Given the description of an element on the screen output the (x, y) to click on. 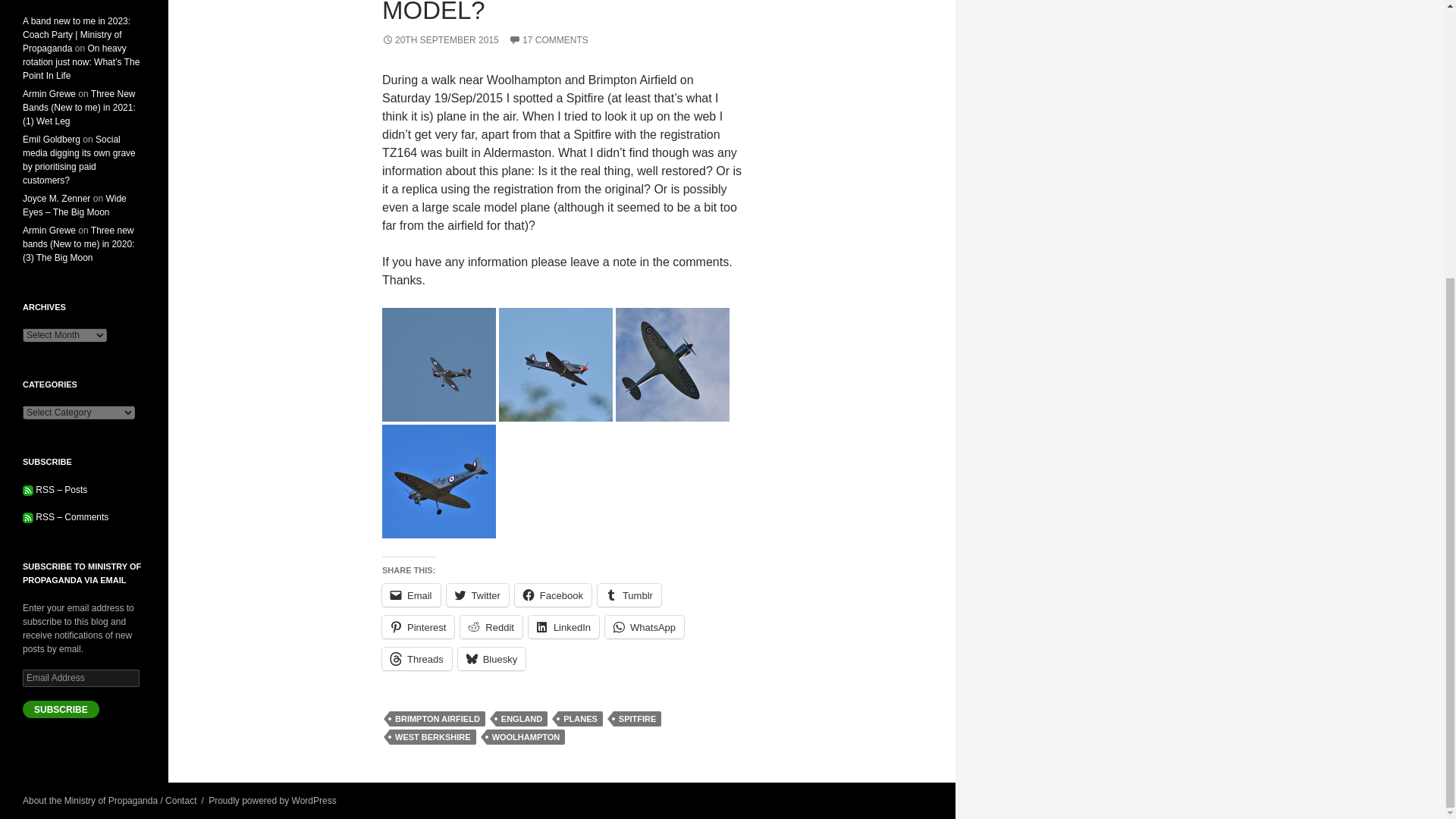
PLANES (579, 718)
Click to share on WhatsApp (644, 626)
LinkedIn (563, 626)
SPITFIRE TZ164, REAL, REPLICA OR MAYBE A MODEL? (520, 12)
Threads (416, 658)
Click to share on Facebook (553, 594)
Click to share on LinkedIn (563, 626)
Click to share on Threads (416, 658)
BRIMPTON AIRFIELD (437, 718)
Click to share on Tumblr (628, 594)
